Given the description of an element on the screen output the (x, y) to click on. 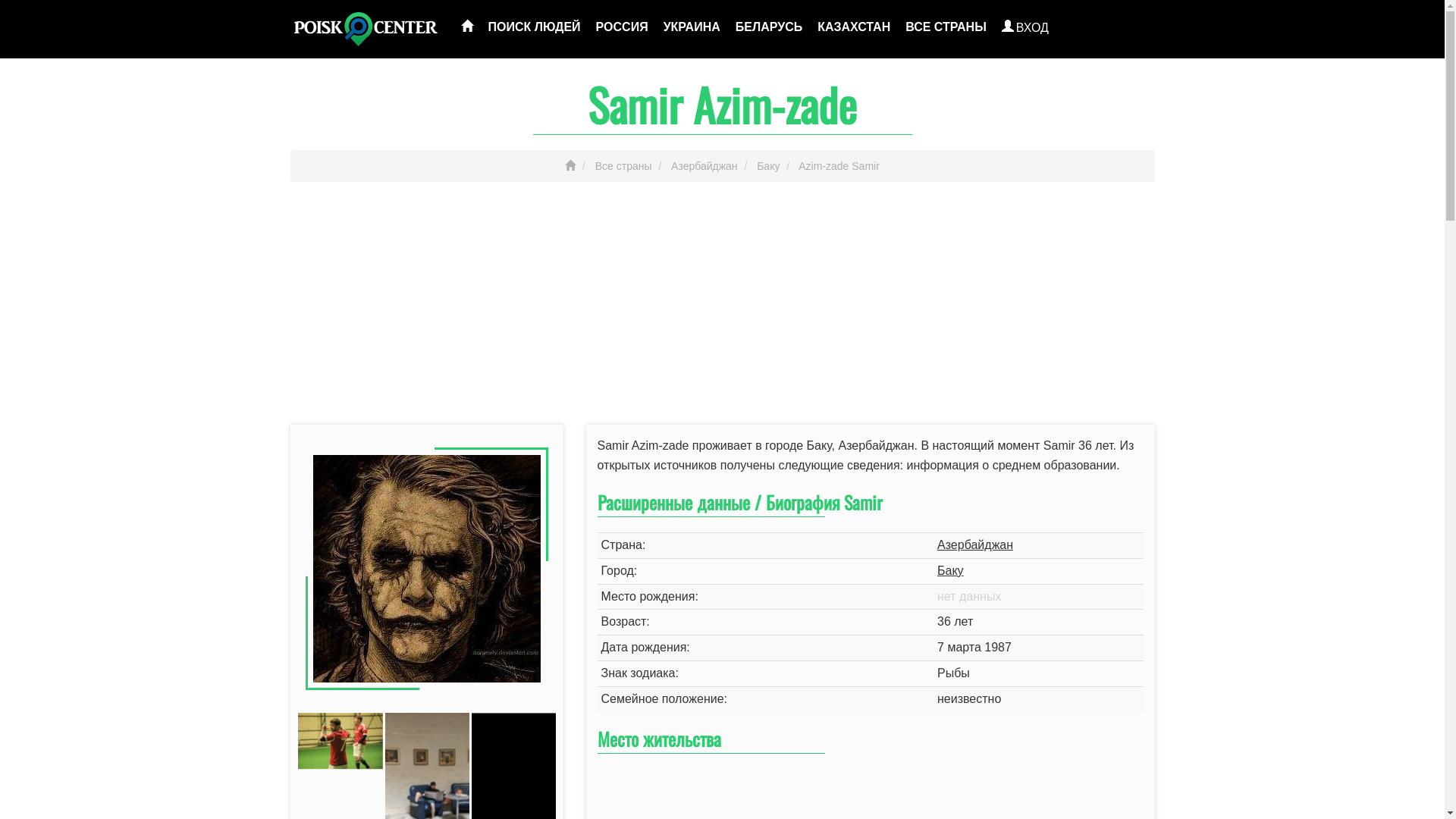
Cloudflare Element type: text (165, 107)
